Given the description of an element on the screen output the (x, y) to click on. 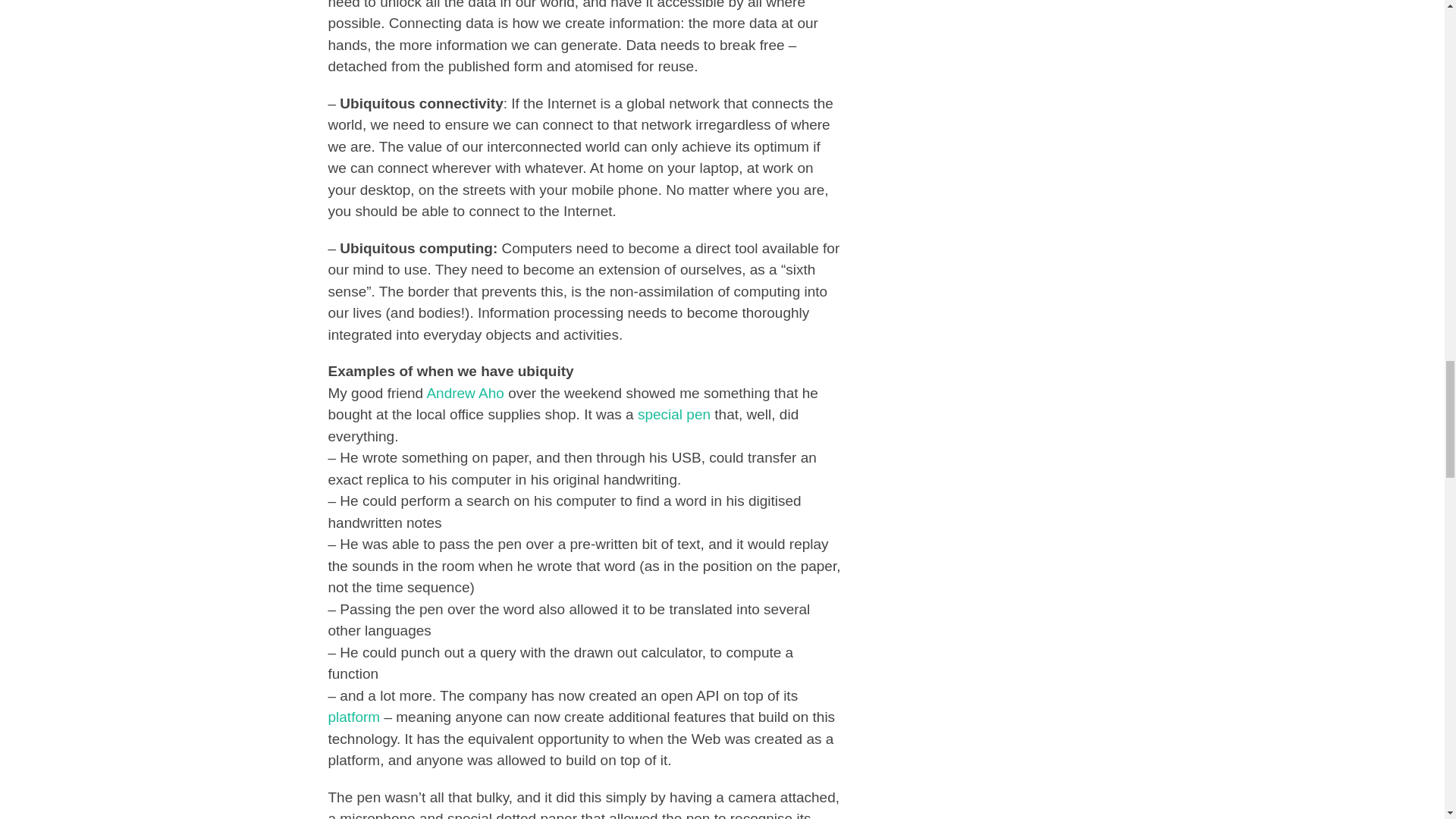
platform (353, 716)
Andrew Aho (464, 392)
special pen (673, 414)
